Given the description of an element on the screen output the (x, y) to click on. 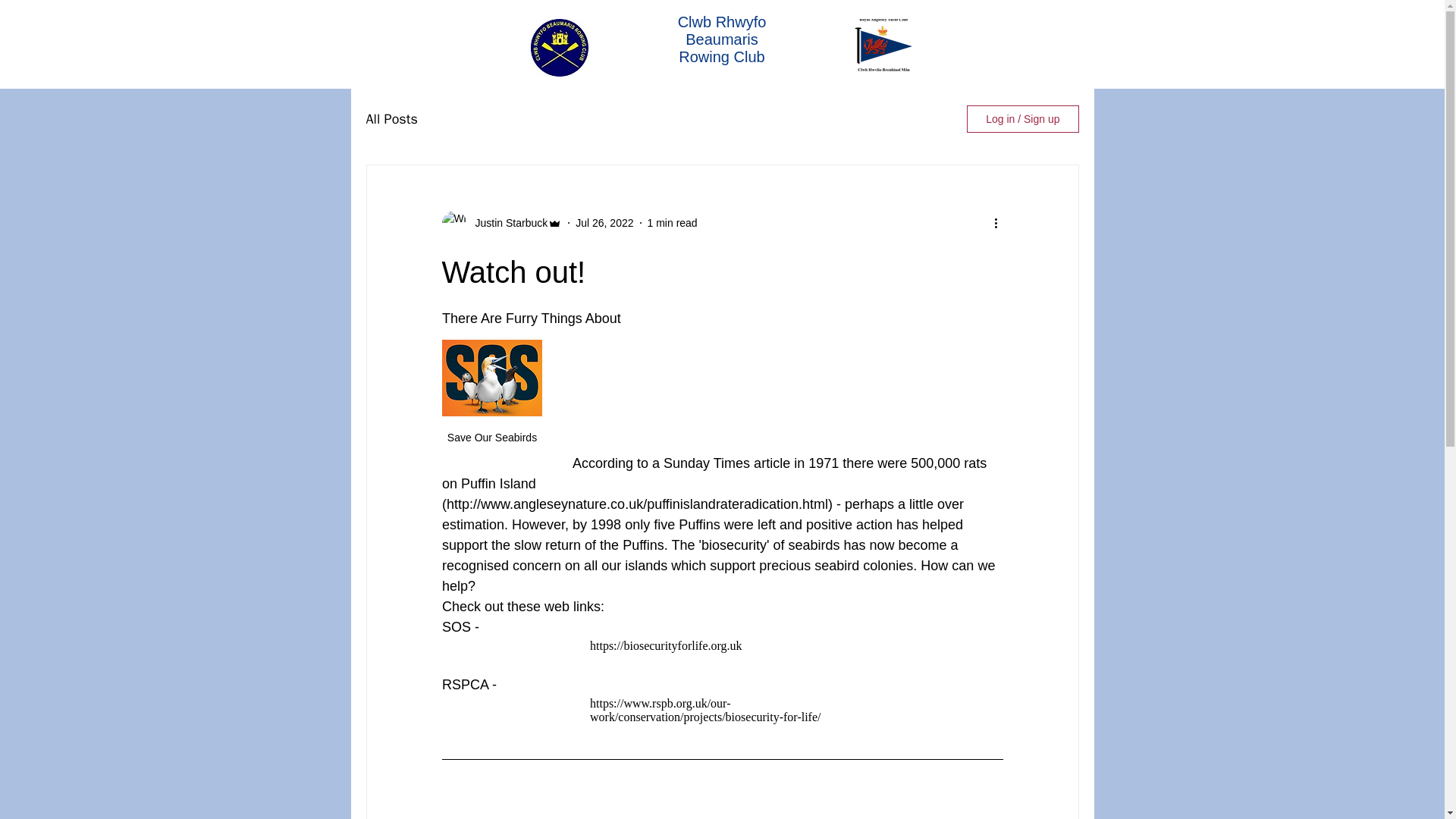
remote content (722, 709)
Justin Starbuck (506, 222)
Jul 26, 2022 (604, 223)
All Posts (390, 118)
remote content (722, 645)
RAYC Royal Anglesey Yacht Club (882, 44)
1 min read (672, 223)
Beaumaris Rowing Club Celtic longboat and coastal sculling (559, 47)
